Given the description of an element on the screen output the (x, y) to click on. 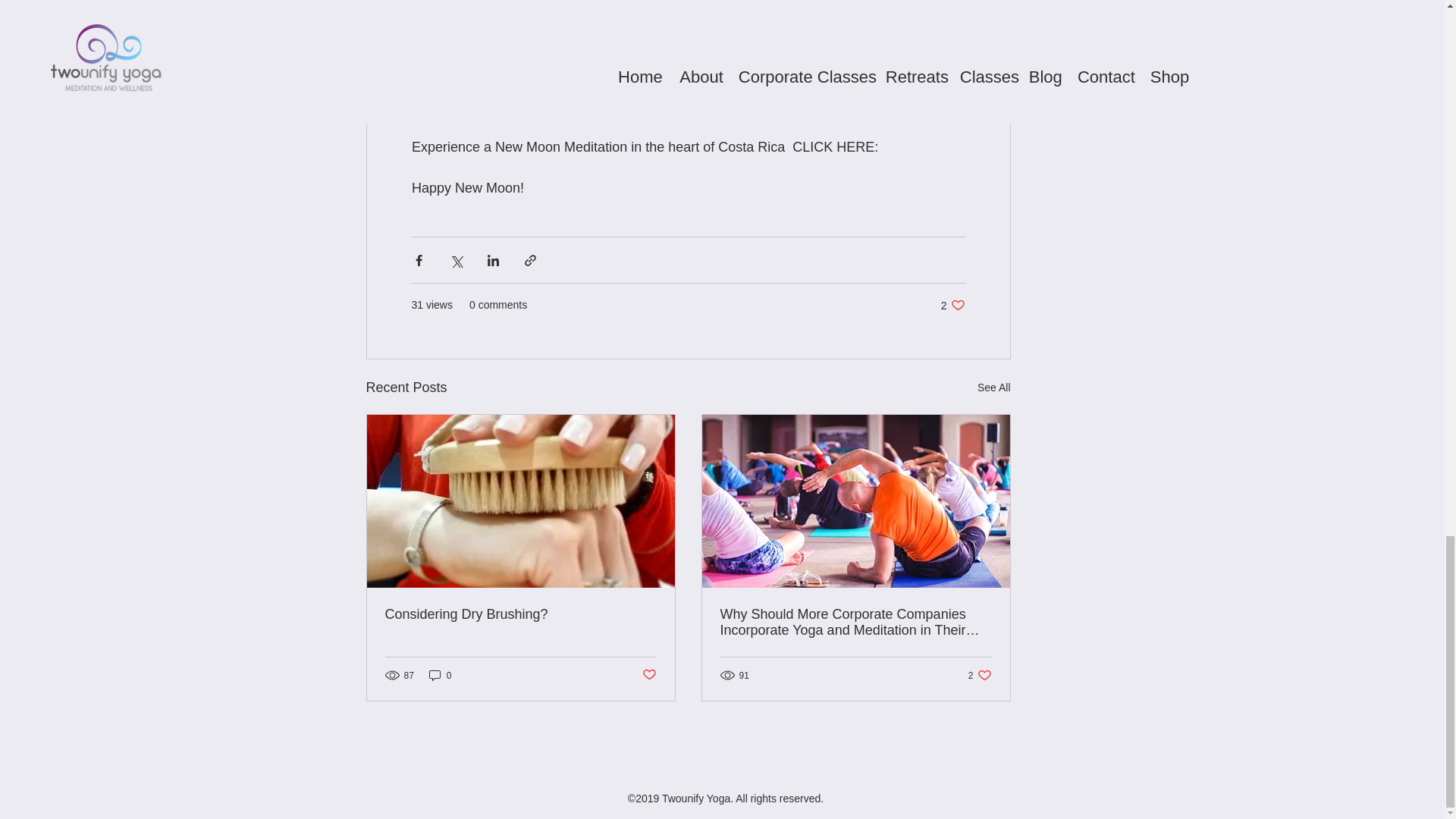
Post not marked as liked (649, 675)
See All (952, 305)
Considering Dry Brushing? (993, 387)
0 (520, 614)
